Given the description of an element on the screen output the (x, y) to click on. 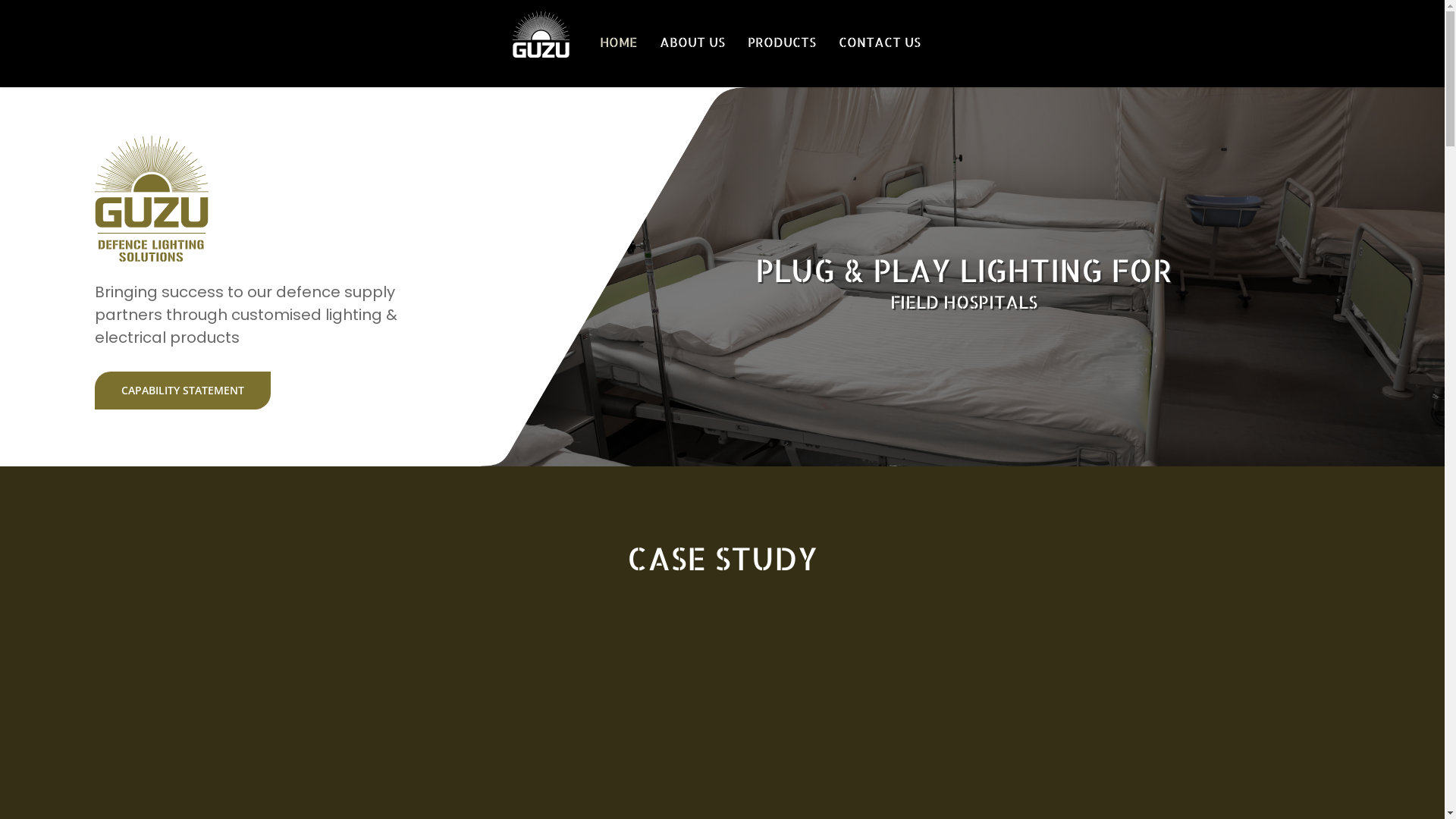
CONTACT US Element type: text (879, 41)
CAPABILITY STATEMENT Element type: text (182, 390)
PRODUCTS Element type: text (781, 41)
ABOUT US Element type: text (692, 41)
HOME Element type: text (618, 41)
  Element type: text (525, 41)
